Given the description of an element on the screen output the (x, y) to click on. 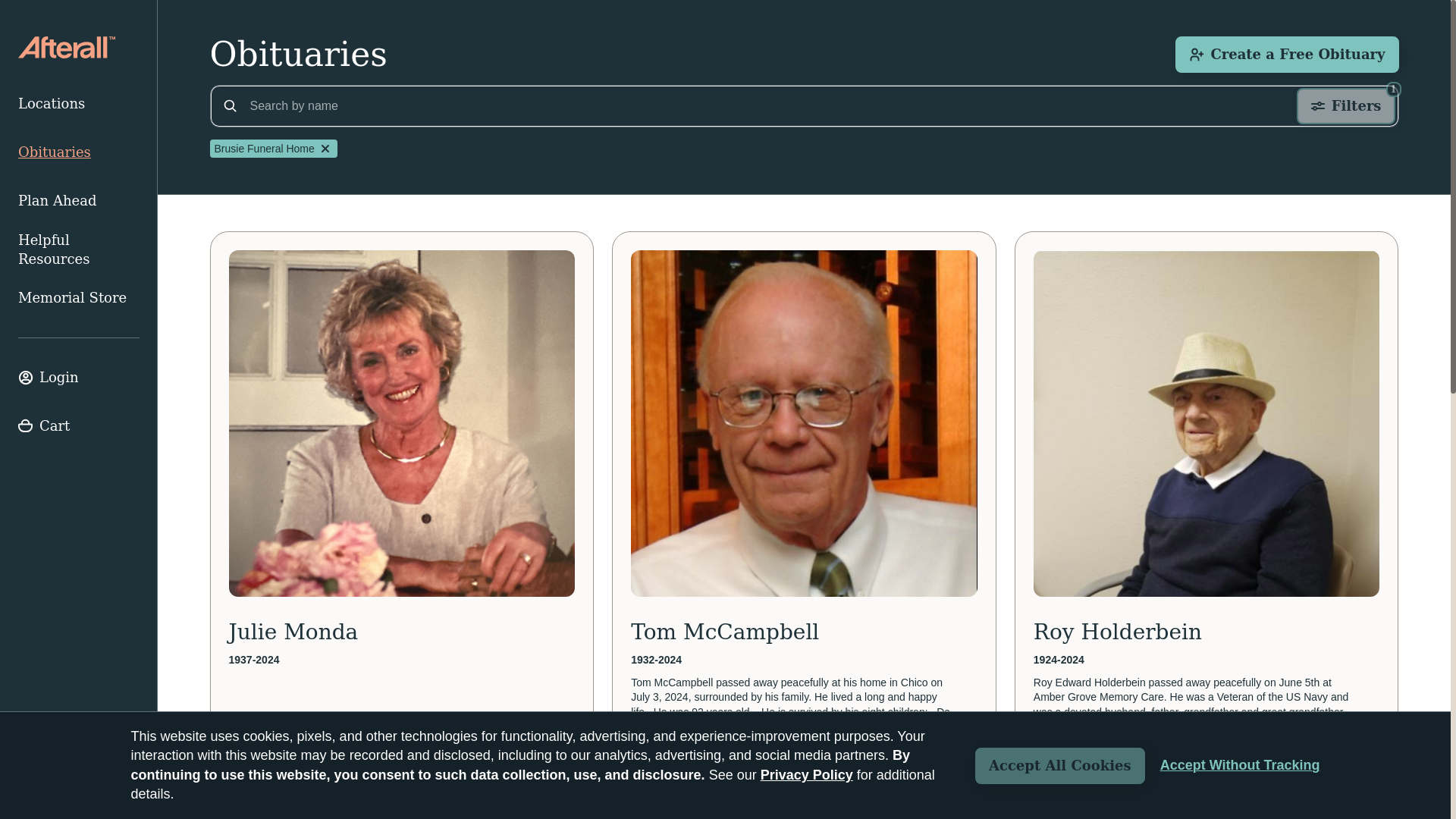
Obituaries (78, 151)
Cart (78, 426)
Login (78, 377)
Memorial Store (78, 297)
Privacy Policy (806, 774)
Helpful Resources (78, 249)
Accept Without Tracking (1345, 105)
Create a Free Obituary (1240, 765)
Plan Ahead (1285, 54)
